Given the description of an element on the screen output the (x, y) to click on. 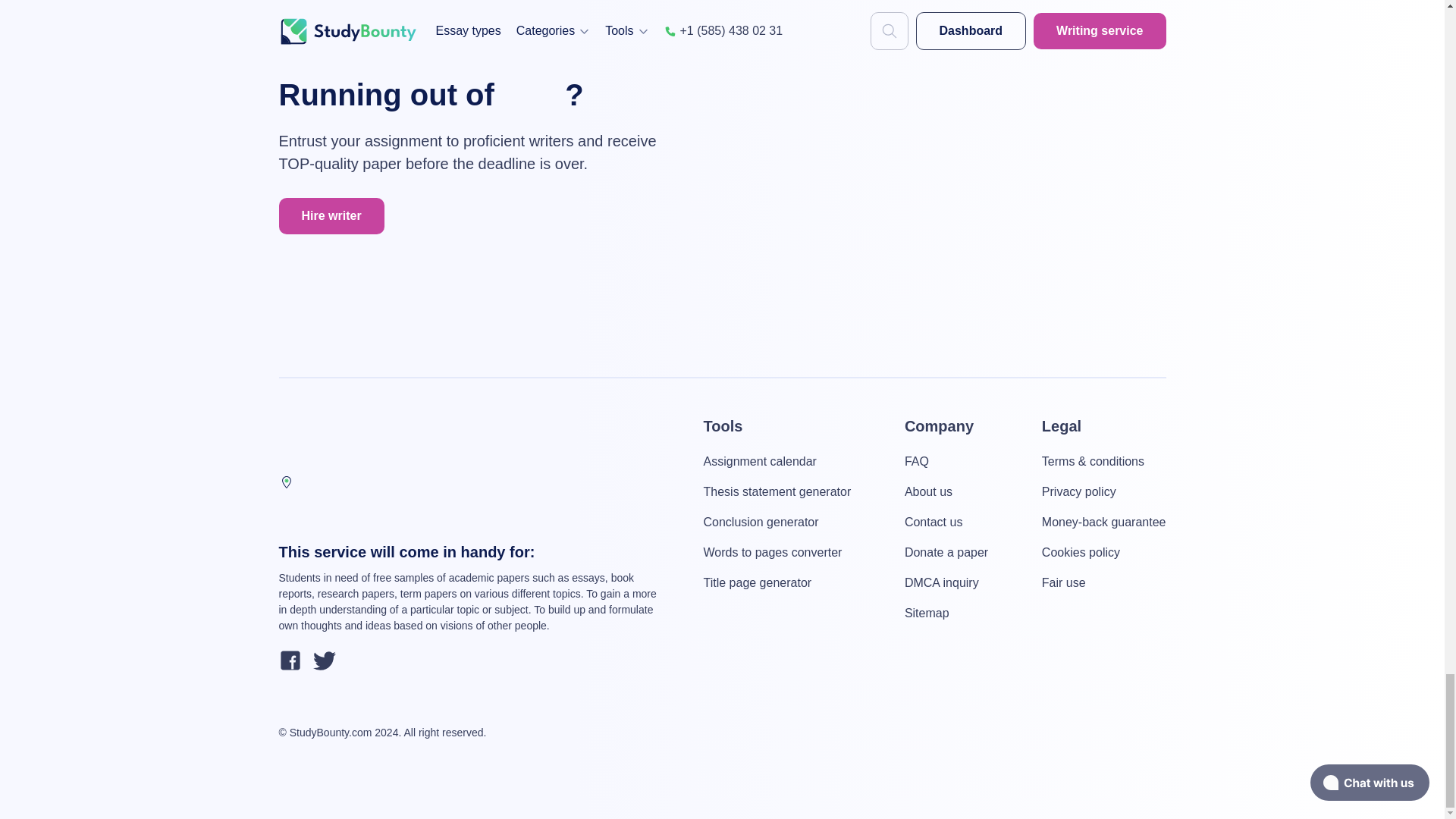
DMCA.com Protection Status (1049, 732)
